Given the description of an element on the screen output the (x, y) to click on. 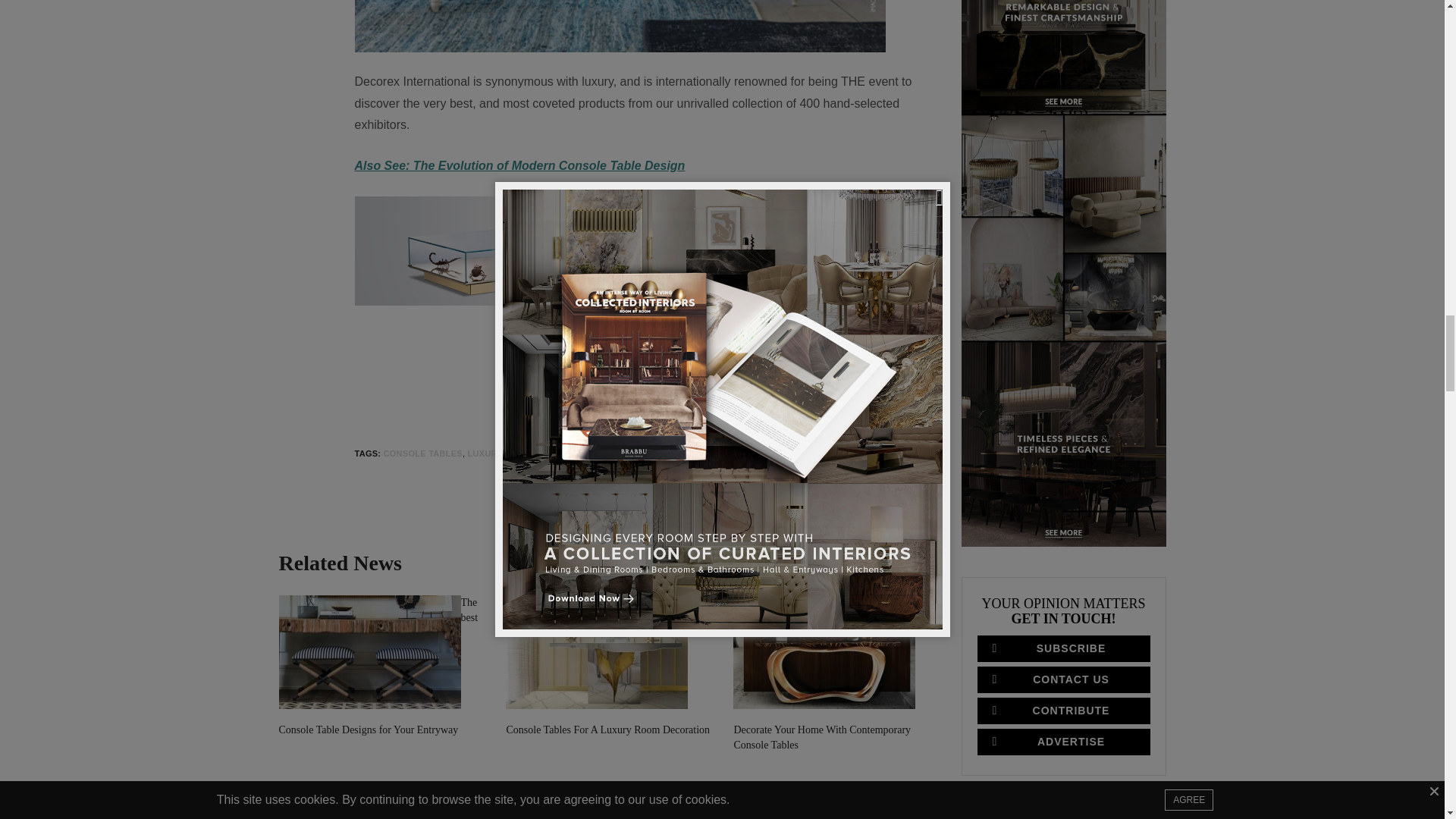
The best Console Table Designs for Your Entryway (370, 652)
